Given the description of an element on the screen output the (x, y) to click on. 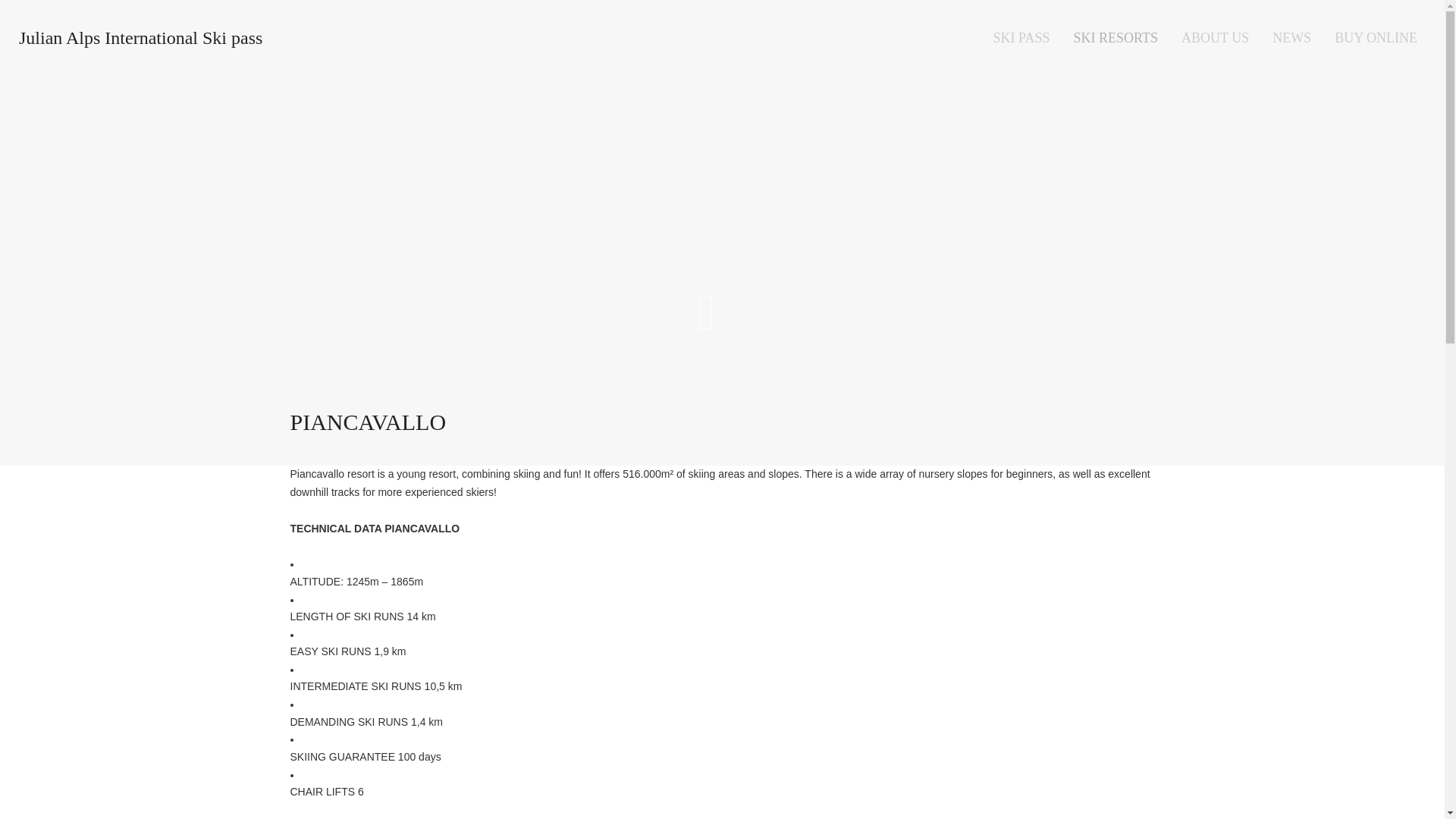
Julian Alps International Ski pass (140, 38)
BUY ONLINE (1375, 38)
SKI PASS (1021, 38)
SKI RESORTS (1115, 38)
ABOUT US (1215, 38)
